Given the description of an element on the screen output the (x, y) to click on. 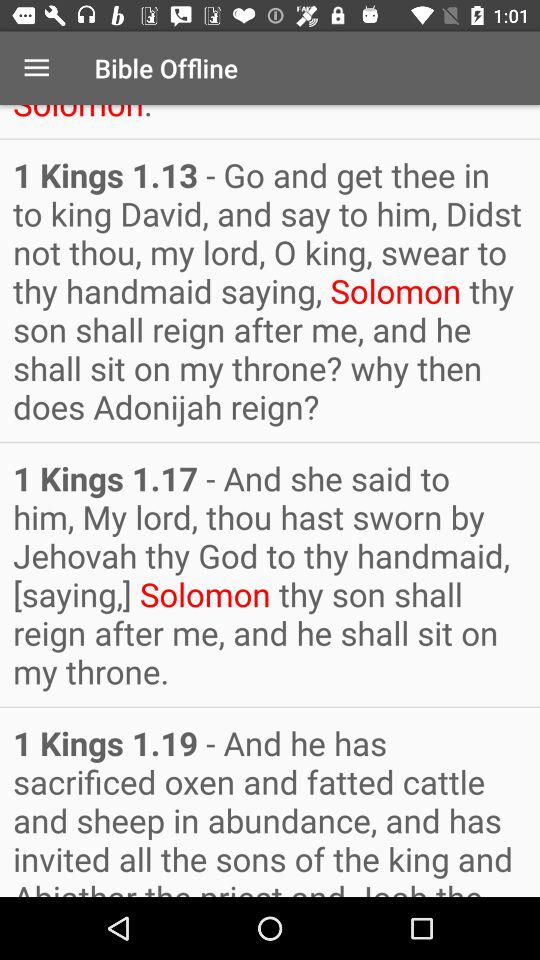
turn off item above 1 kings 1 item (36, 68)
